Given the description of an element on the screen output the (x, y) to click on. 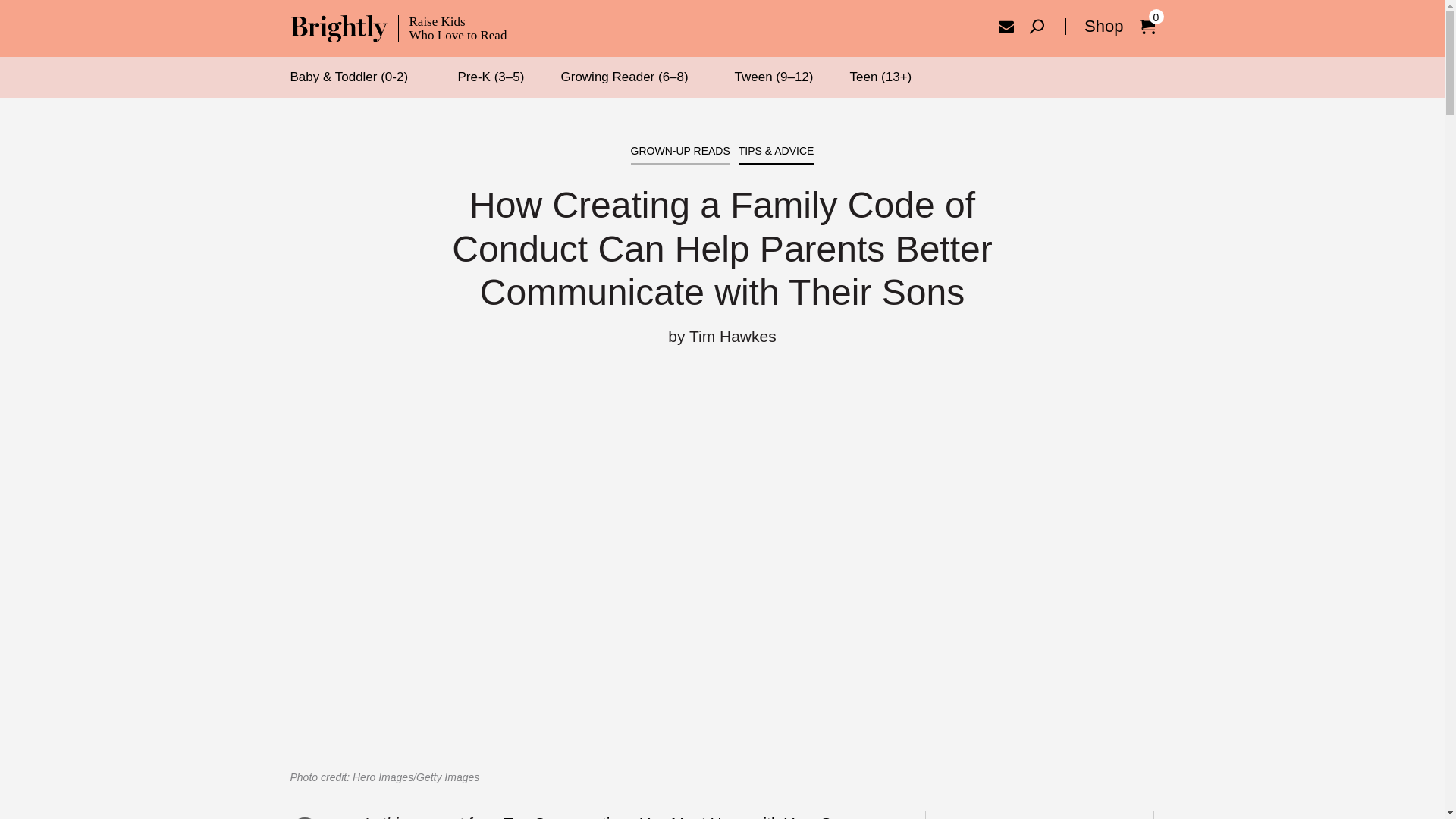
Shop (1093, 26)
envelope (1005, 25)
cart (1146, 25)
uniE603 (1036, 25)
Brightly (397, 28)
